Given the description of an element on the screen output the (x, y) to click on. 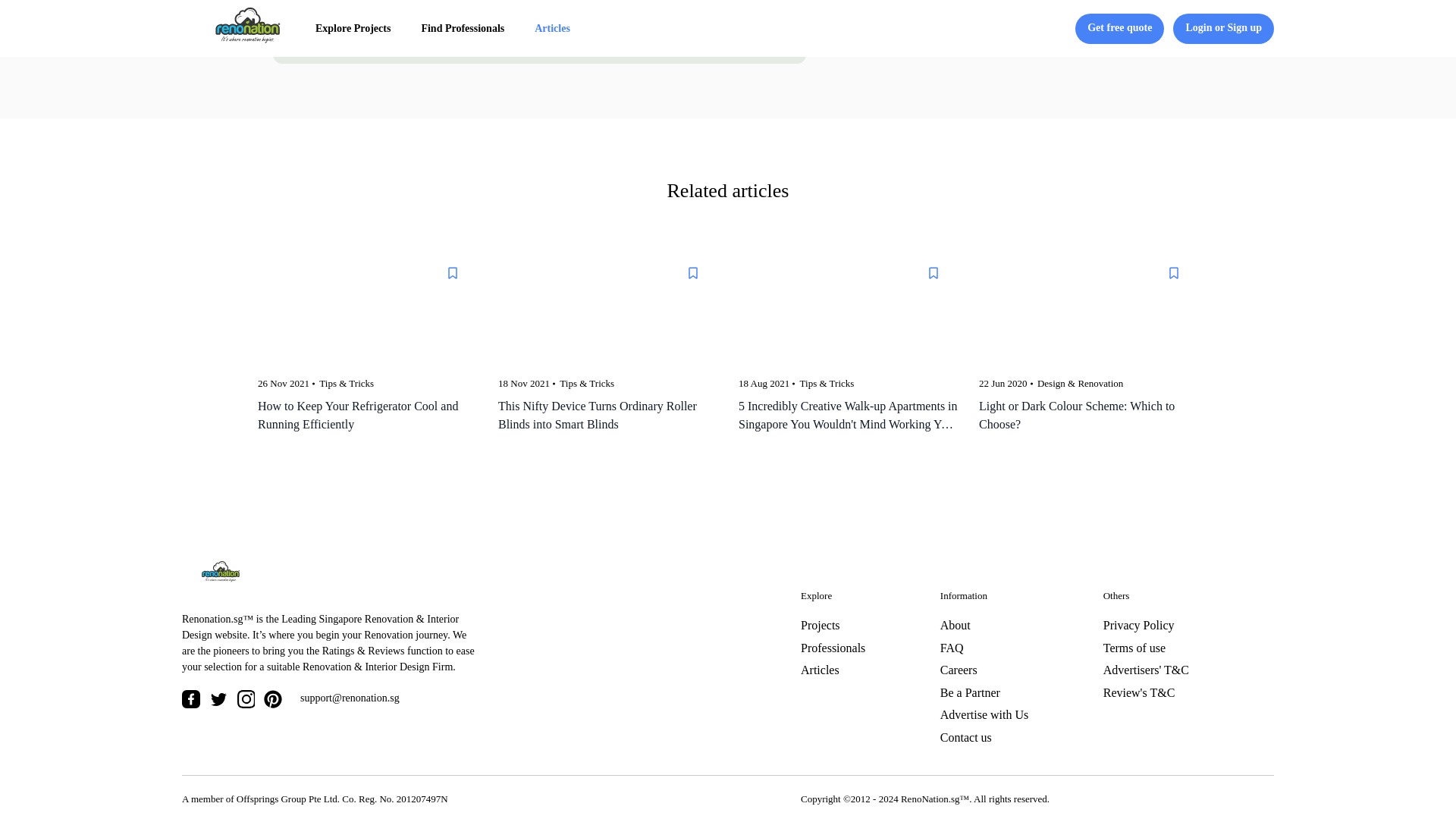
Be a Partner (970, 692)
Professionals (832, 647)
FAQ (951, 647)
Get a free quote (537, 11)
About (955, 625)
Articles (820, 669)
Careers (958, 669)
Projects (820, 625)
